Given the description of an element on the screen output the (x, y) to click on. 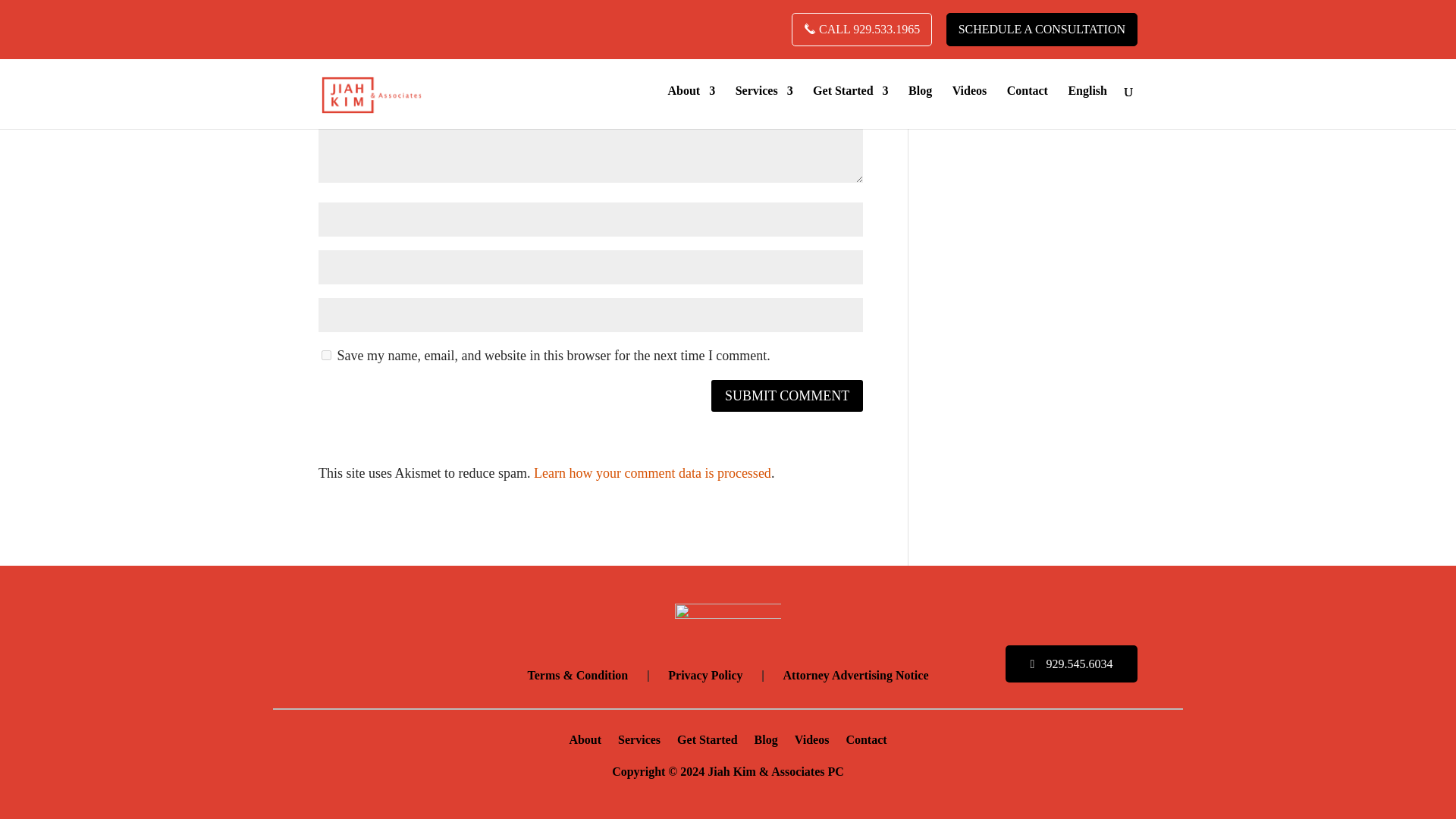
yes (326, 355)
logo-2 (727, 622)
Submit Comment (787, 395)
